Given the description of an element on the screen output the (x, y) to click on. 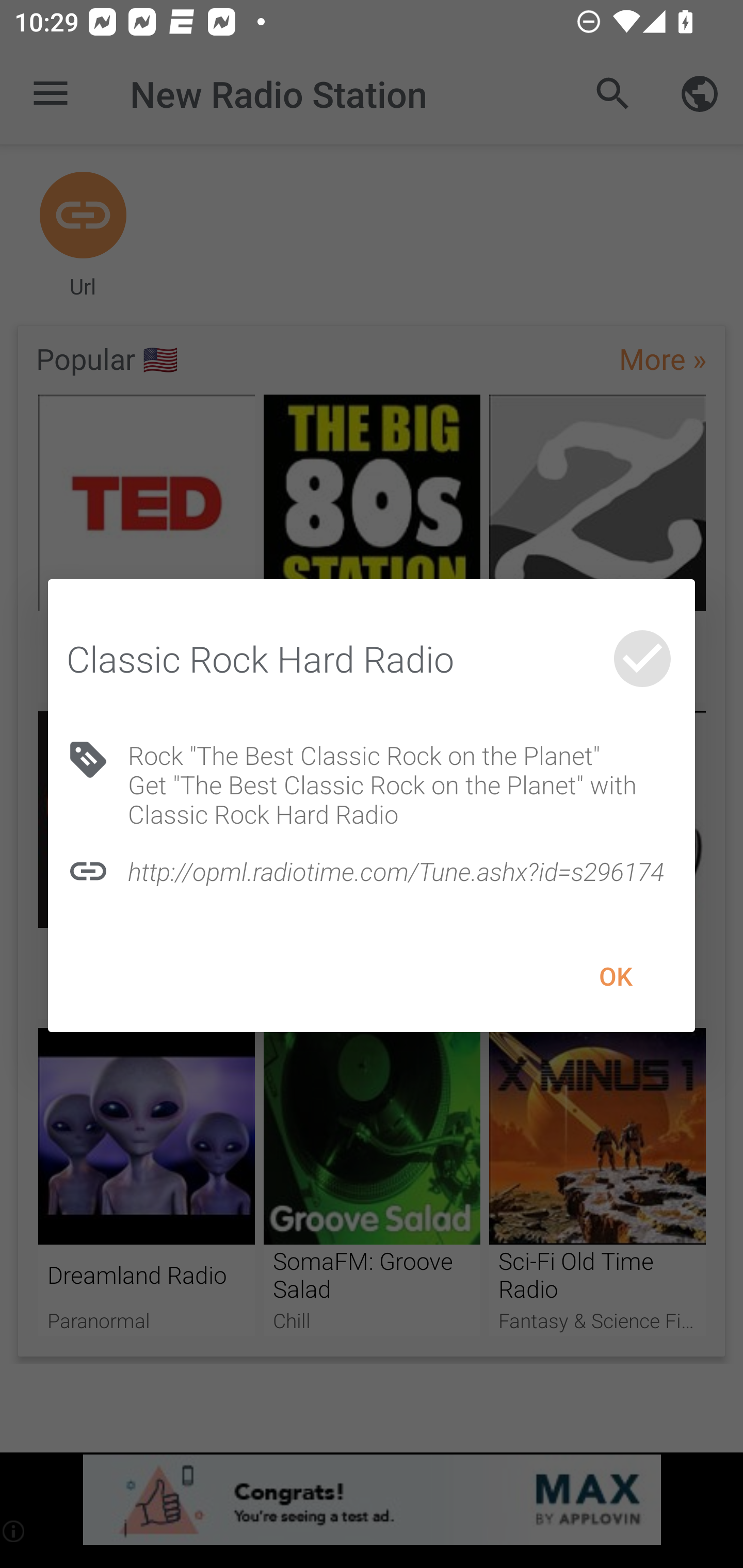
Add Classic Rock Hard Radio (641, 658)
OK (615, 975)
